Given the description of an element on the screen output the (x, y) to click on. 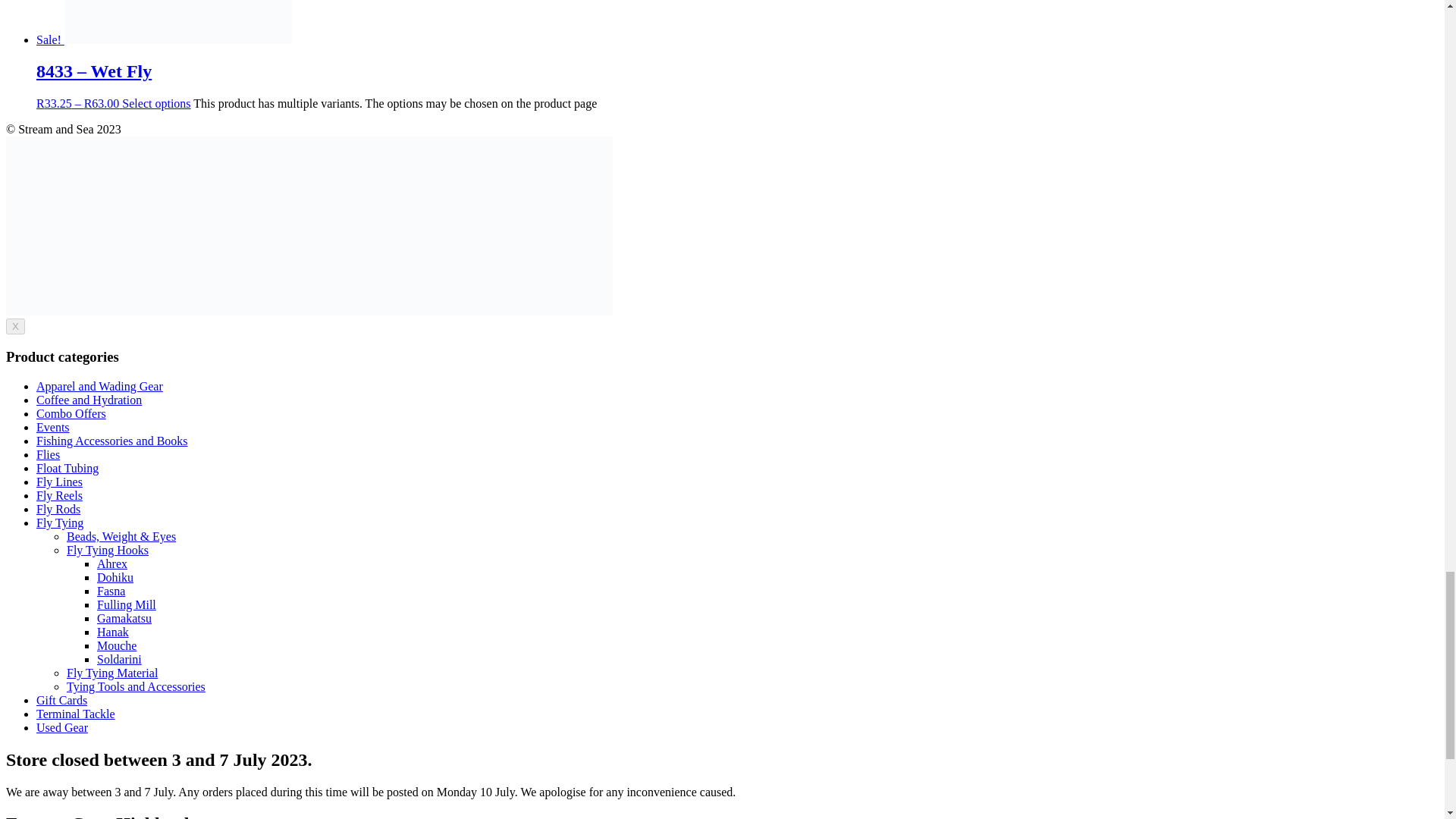
Select options (156, 103)
Combo Offers (71, 413)
Events (52, 427)
Apparel and Wading Gear (99, 386)
X (14, 326)
Coffee and Hydration (88, 399)
